Given the description of an element on the screen output the (x, y) to click on. 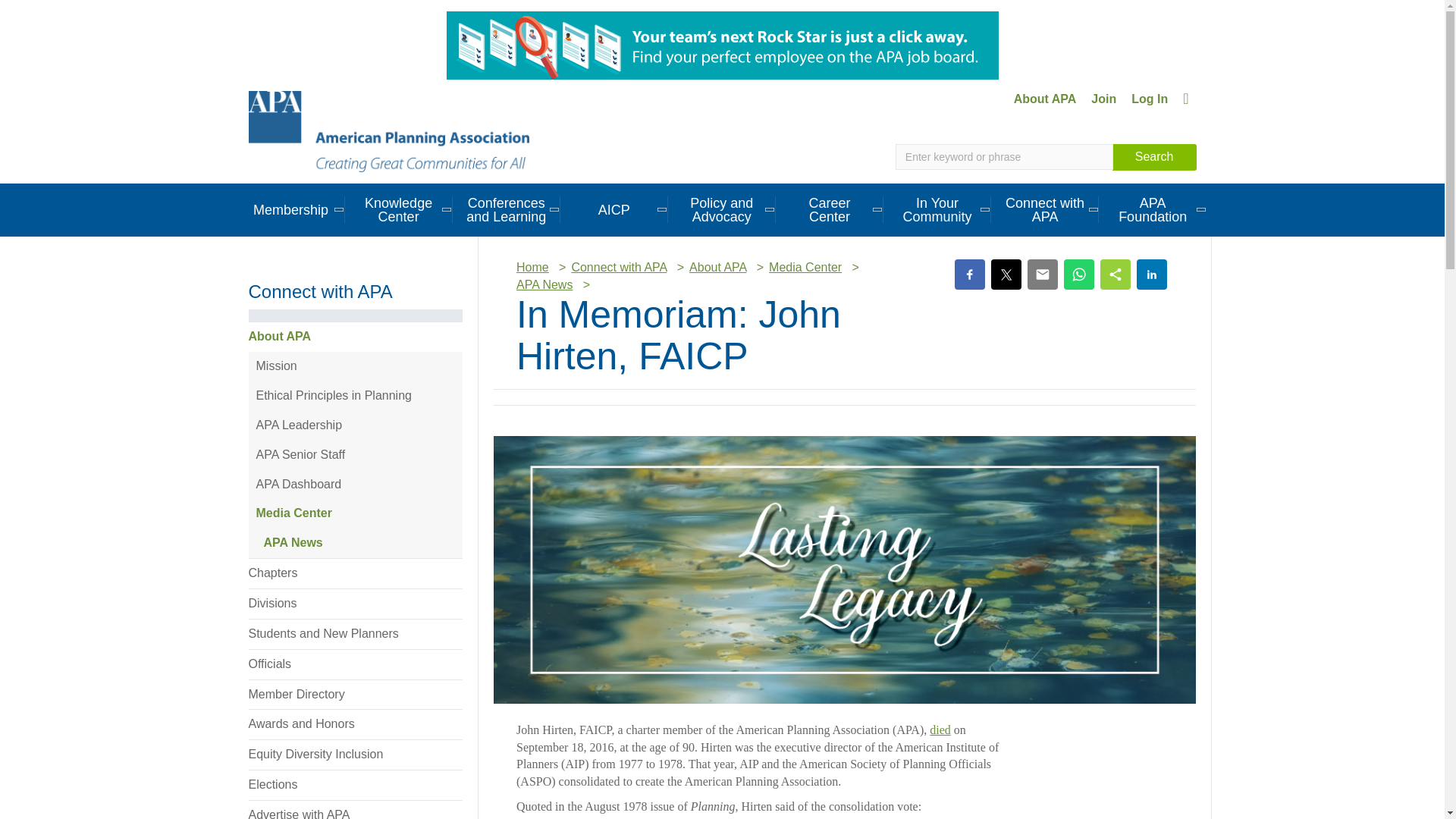
Log In (1149, 98)
Join (1103, 98)
Conferences and Learning (506, 209)
About APA (1045, 98)
Join (1103, 98)
Knowledge Center (398, 209)
Search (1154, 157)
Career Center (829, 209)
APA Foundation (1153, 209)
Policy and Advocacy (722, 209)
Log In (1149, 98)
In Your Community (937, 209)
Membership (289, 209)
AICP (614, 209)
About APA (1045, 98)
